Given the description of an element on the screen output the (x, y) to click on. 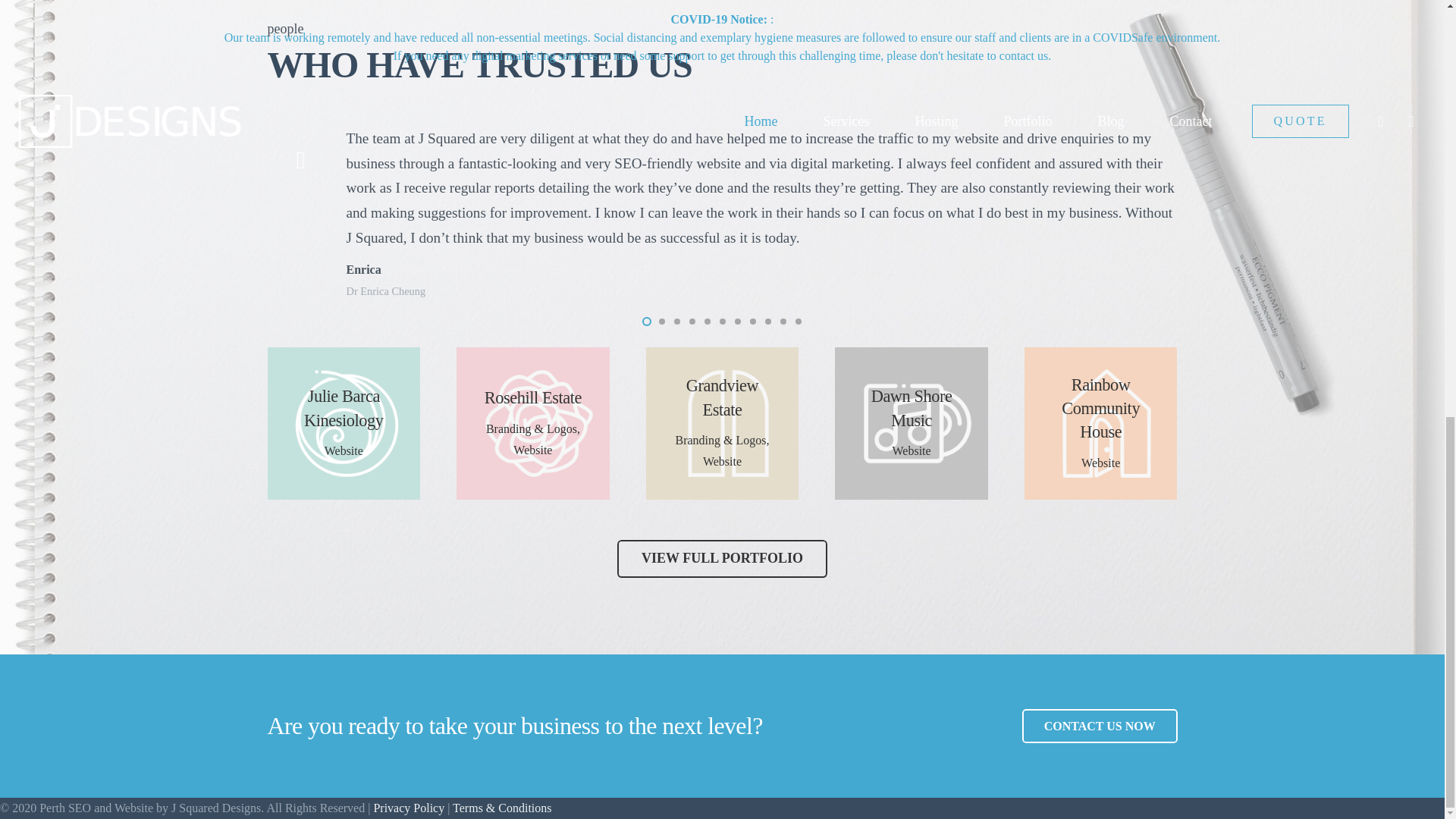
Back to top (1413, 9)
